Given the description of an element on the screen output the (x, y) to click on. 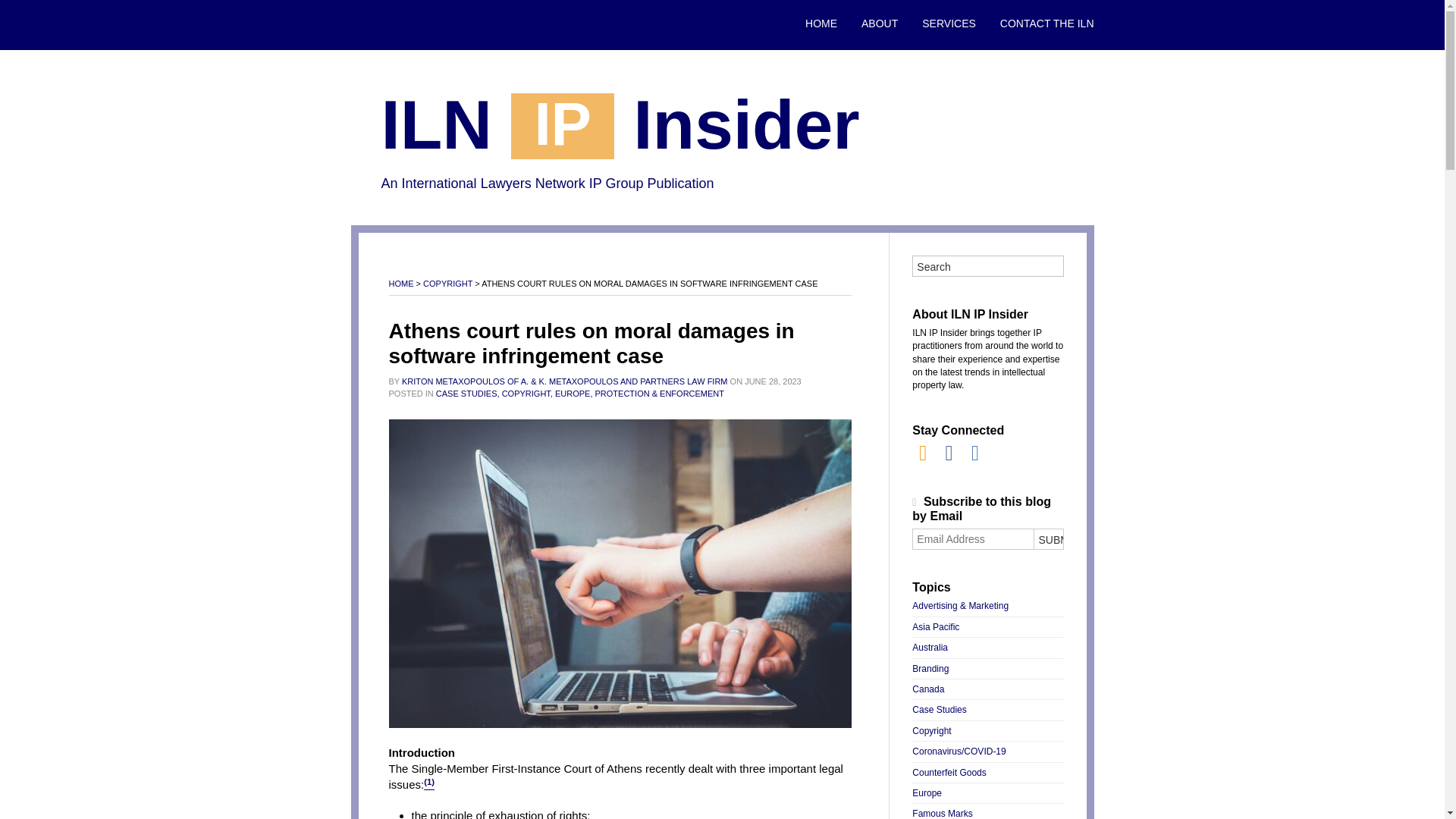
ILN IP Insider (619, 129)
Go (1047, 266)
SUBMIT (1047, 538)
EUROPE, (573, 393)
HOME (820, 24)
CASE STUDIES, (467, 393)
COPYRIGHT, (527, 393)
Search (987, 266)
HOME (400, 283)
Go (1047, 266)
